Given the description of an element on the screen output the (x, y) to click on. 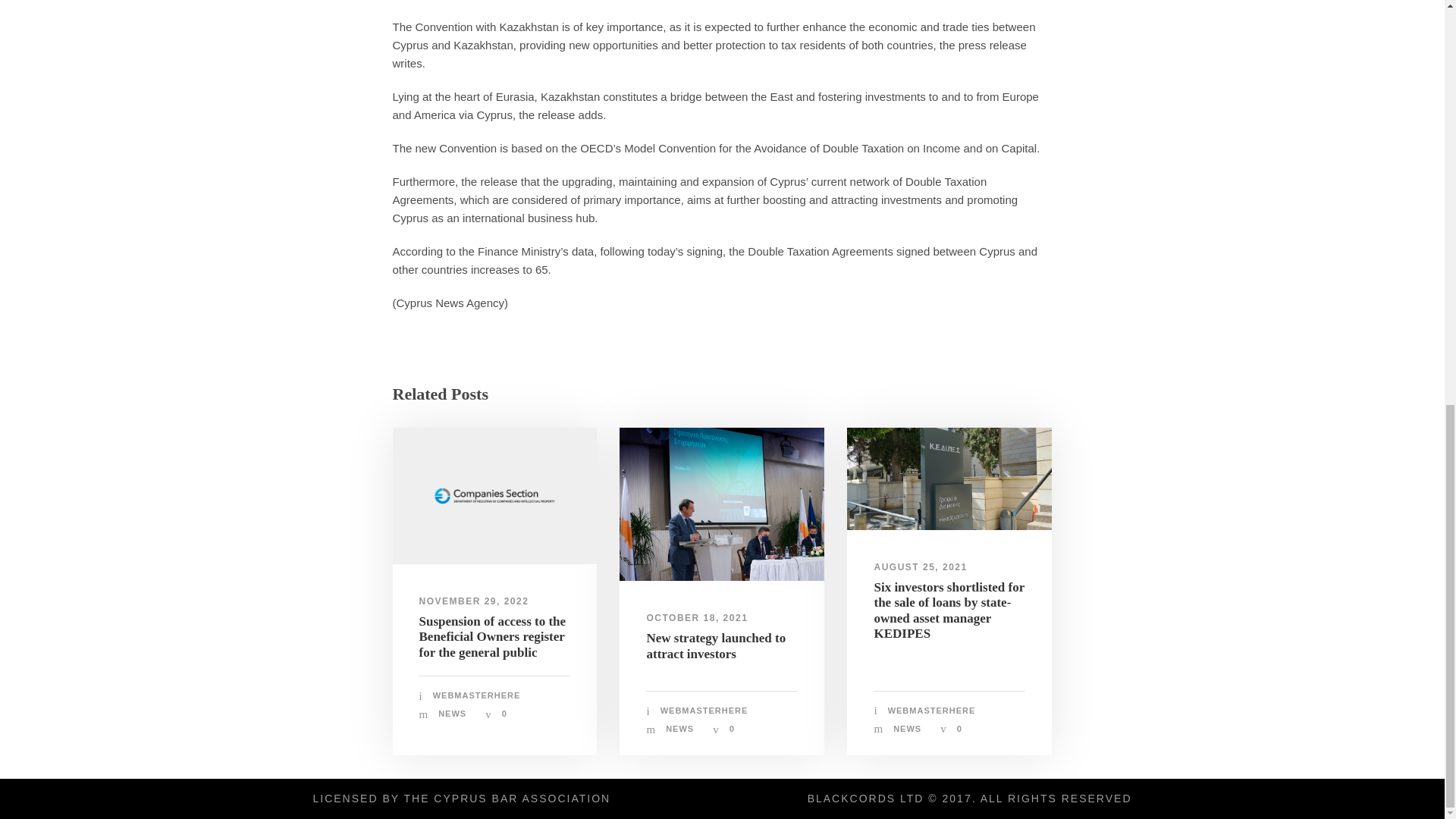
Posts by webmasterhere (931, 709)
kedipes (949, 478)
NEWS (679, 728)
NEWS (451, 713)
NEWS (907, 728)
New strategy launched to attract investors (716, 645)
WEBMASTERHERE (704, 709)
OCTOBER 18, 2021 (697, 617)
WEBMASTERHERE (931, 709)
